Given the description of an element on the screen output the (x, y) to click on. 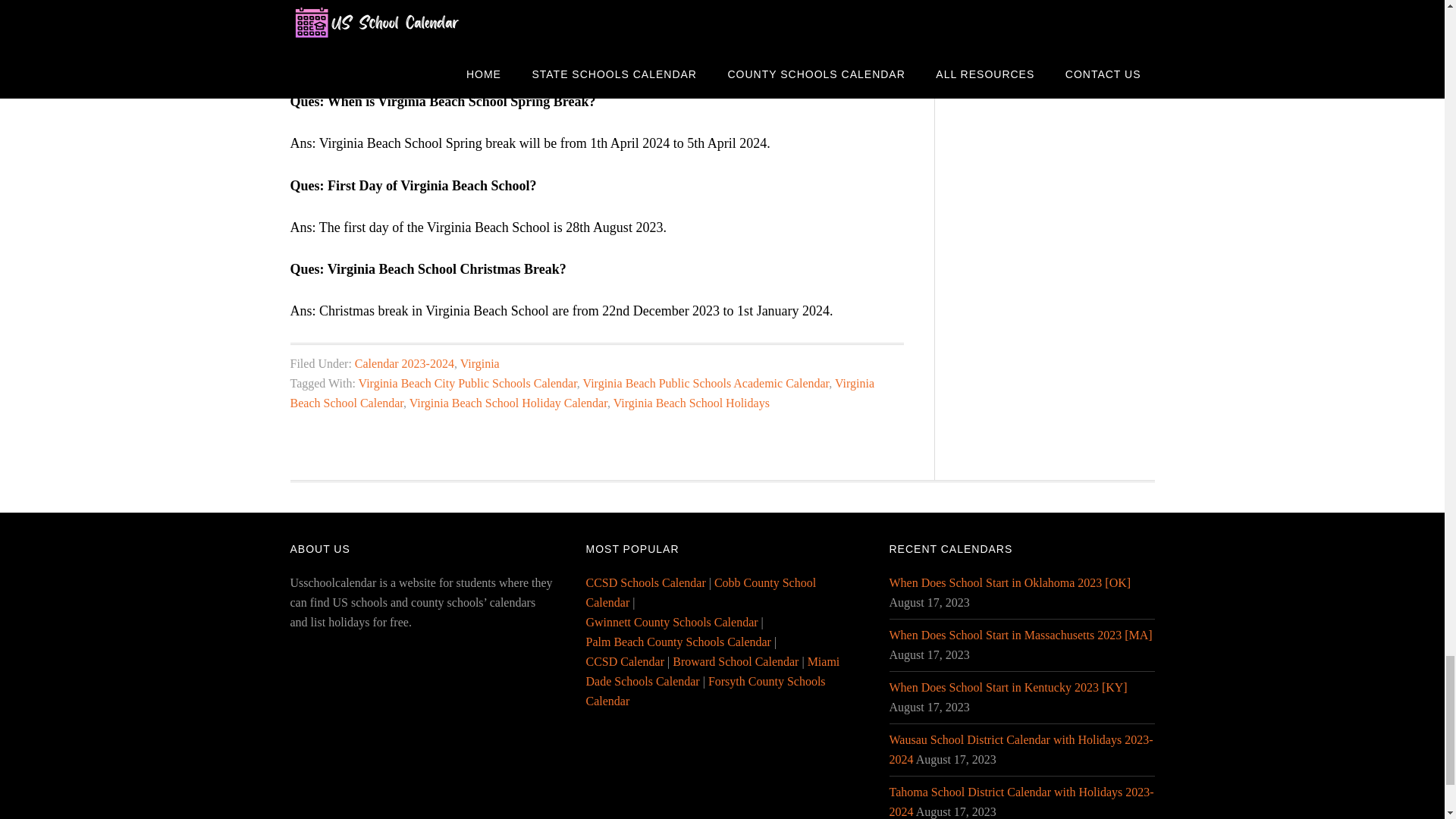
CCSD Schools Calendar (644, 582)
Calendar 2023-2024 (404, 363)
Virginia Beach Public Schools Academic Calendar (706, 382)
Palm Beach County Schools Calendar (677, 641)
Cobb County School Calendar (700, 592)
Virginia Beach School Calendar (582, 392)
Virginia (479, 363)
Virginia Beach School Holiday Calendar (508, 402)
Gwinnett County Schools Calendar (671, 621)
Virginia Beach School Holidays (691, 402)
